Given the description of an element on the screen output the (x, y) to click on. 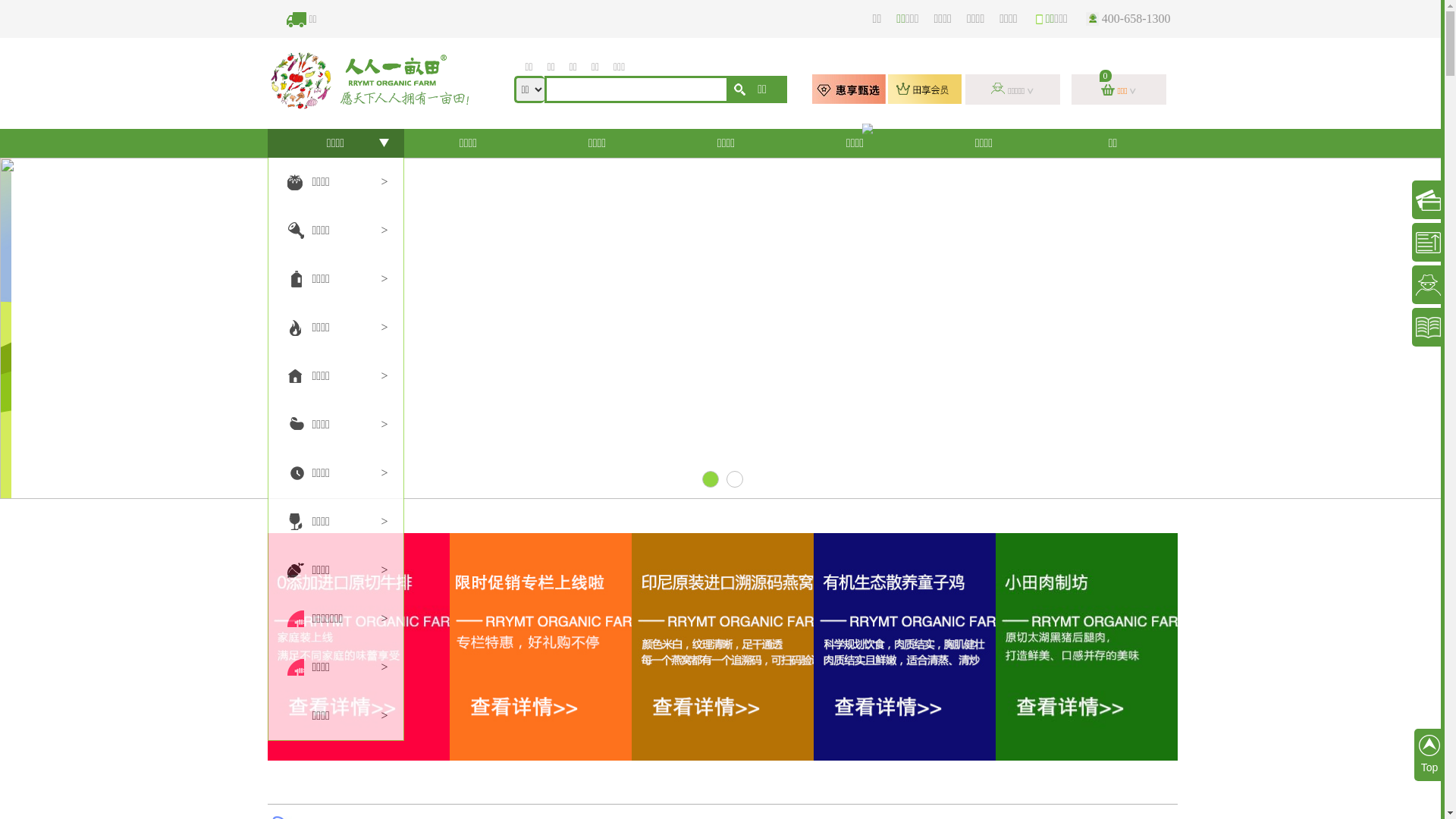
2 Element type: text (734, 478)
400-658-1300 Element type: text (1130, 18)
1 Element type: text (710, 478)
